Given the description of an element on the screen output the (x, y) to click on. 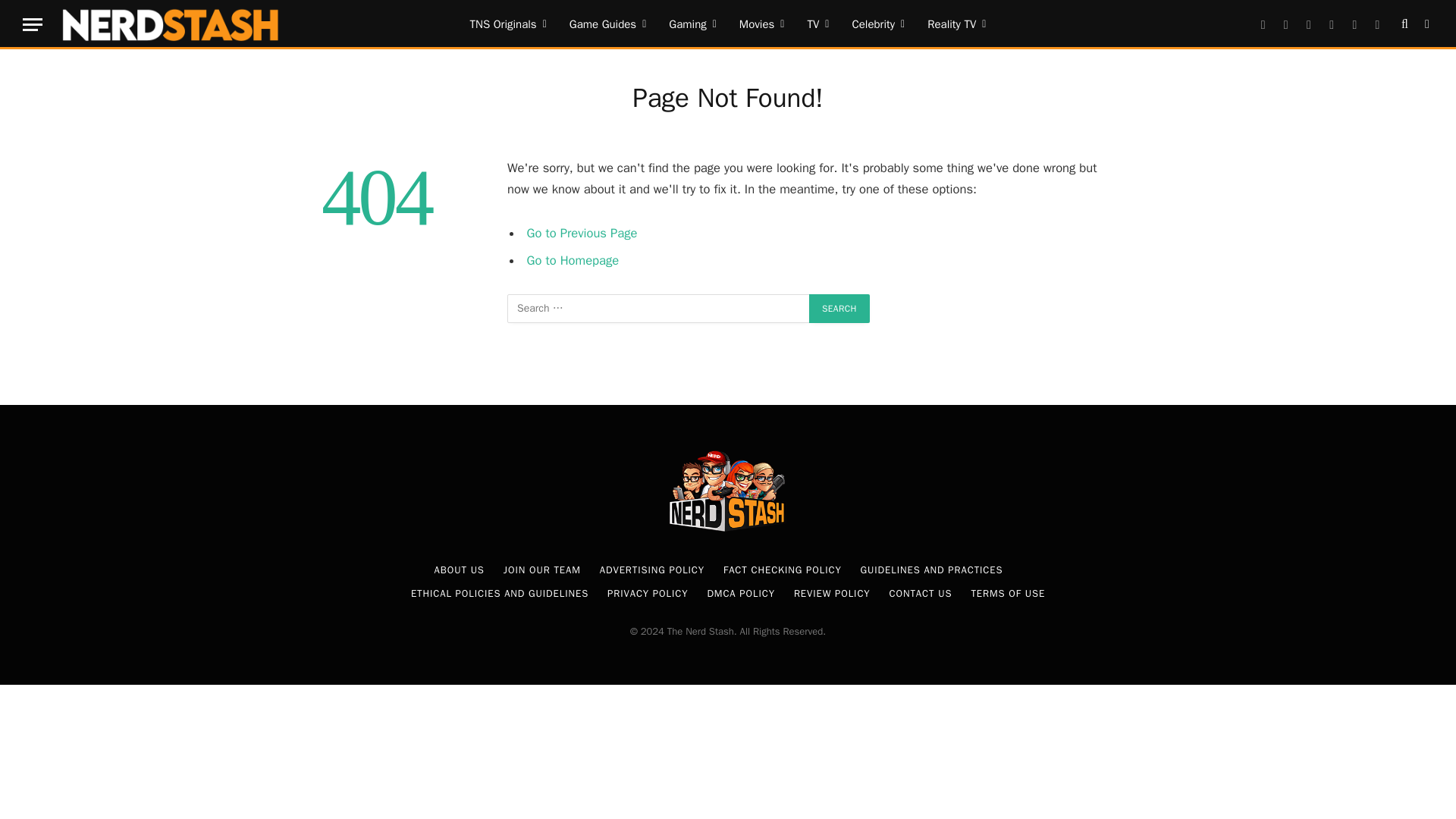
Search (839, 308)
Search (839, 308)
Switch to Dark Design - easier on eyes. (1425, 24)
The Nerd Stash (171, 24)
